Given the description of an element on the screen output the (x, y) to click on. 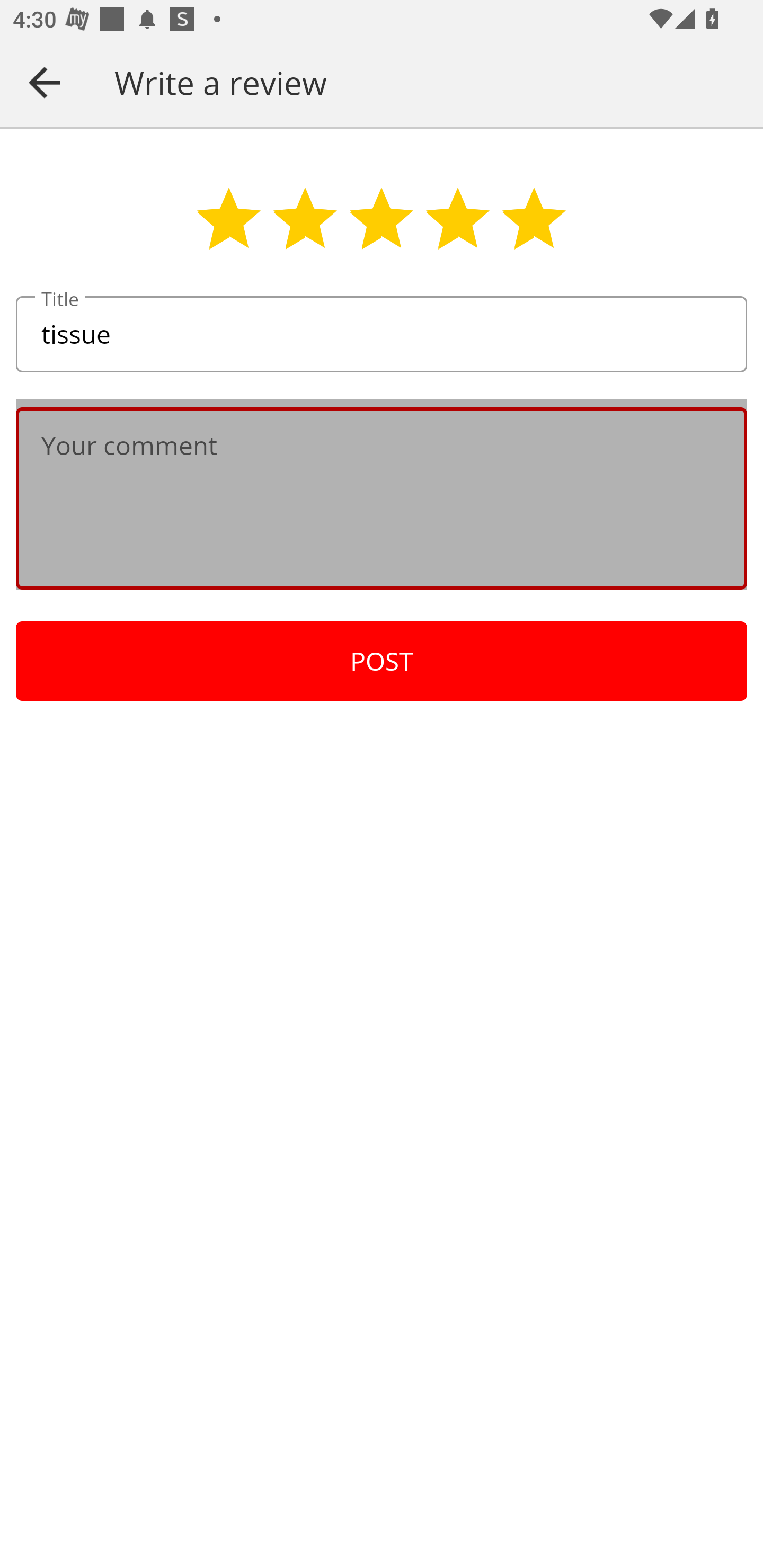
Navigate up (44, 82)
tissue (381, 334)
Your comment (381, 498)
POST (381, 660)
